Given the description of an element on the screen output the (x, y) to click on. 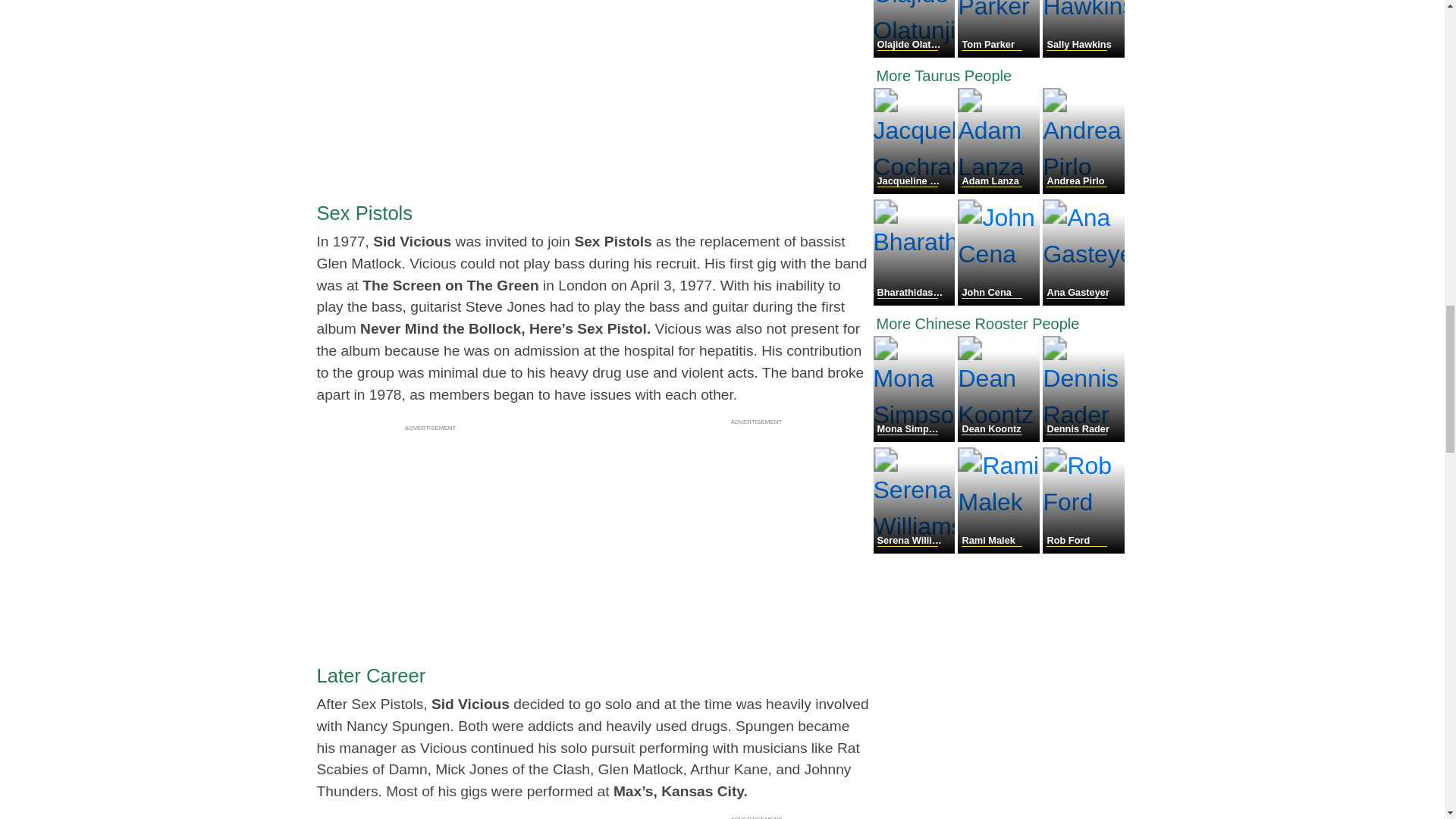
Tom Parker (1000, 52)
Olajide Olatunji (915, 52)
Sally Hawkins (1083, 52)
